Given the description of an element on the screen output the (x, y) to click on. 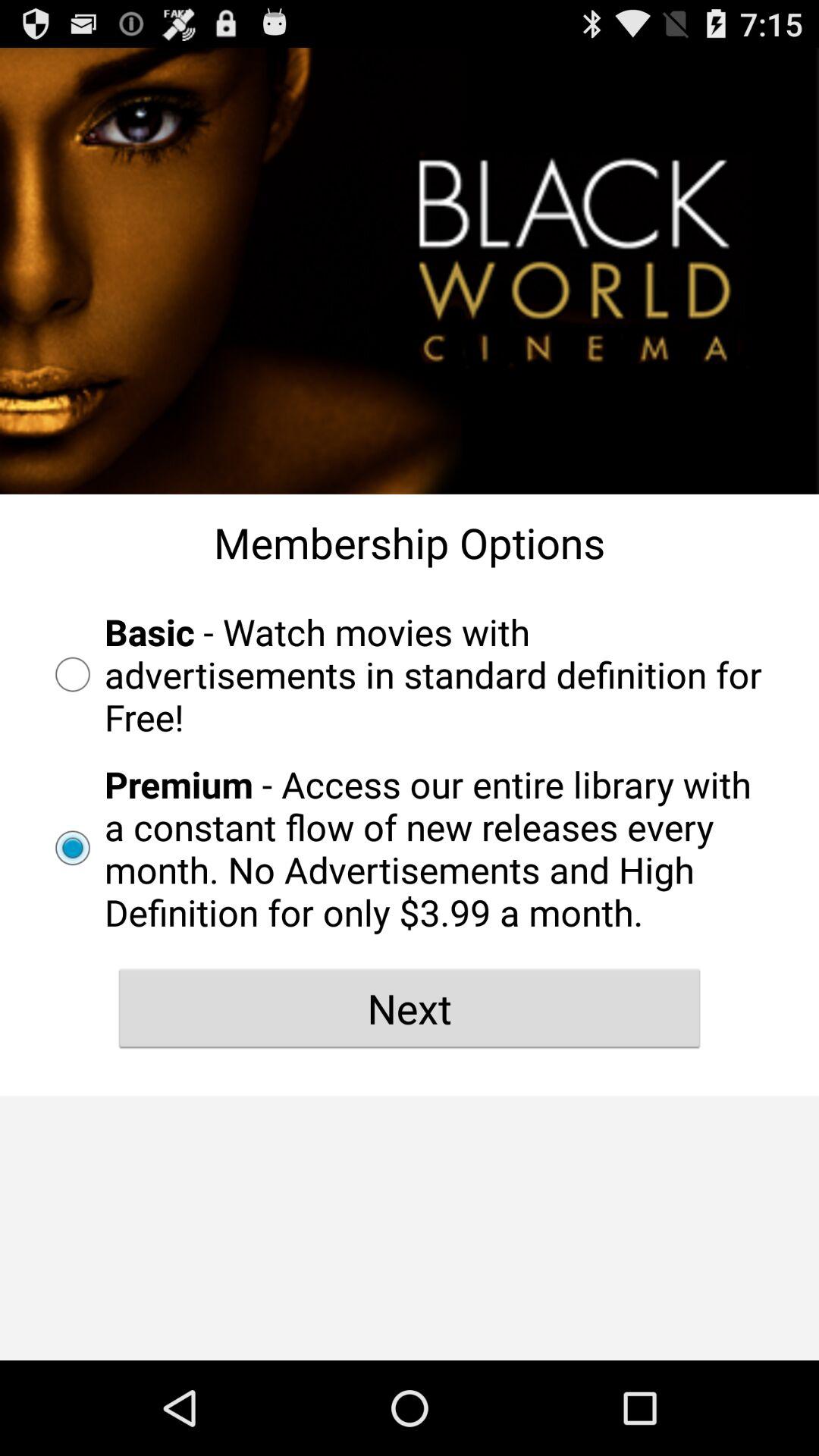
turn off the next at the bottom (409, 1008)
